Given the description of an element on the screen output the (x, y) to click on. 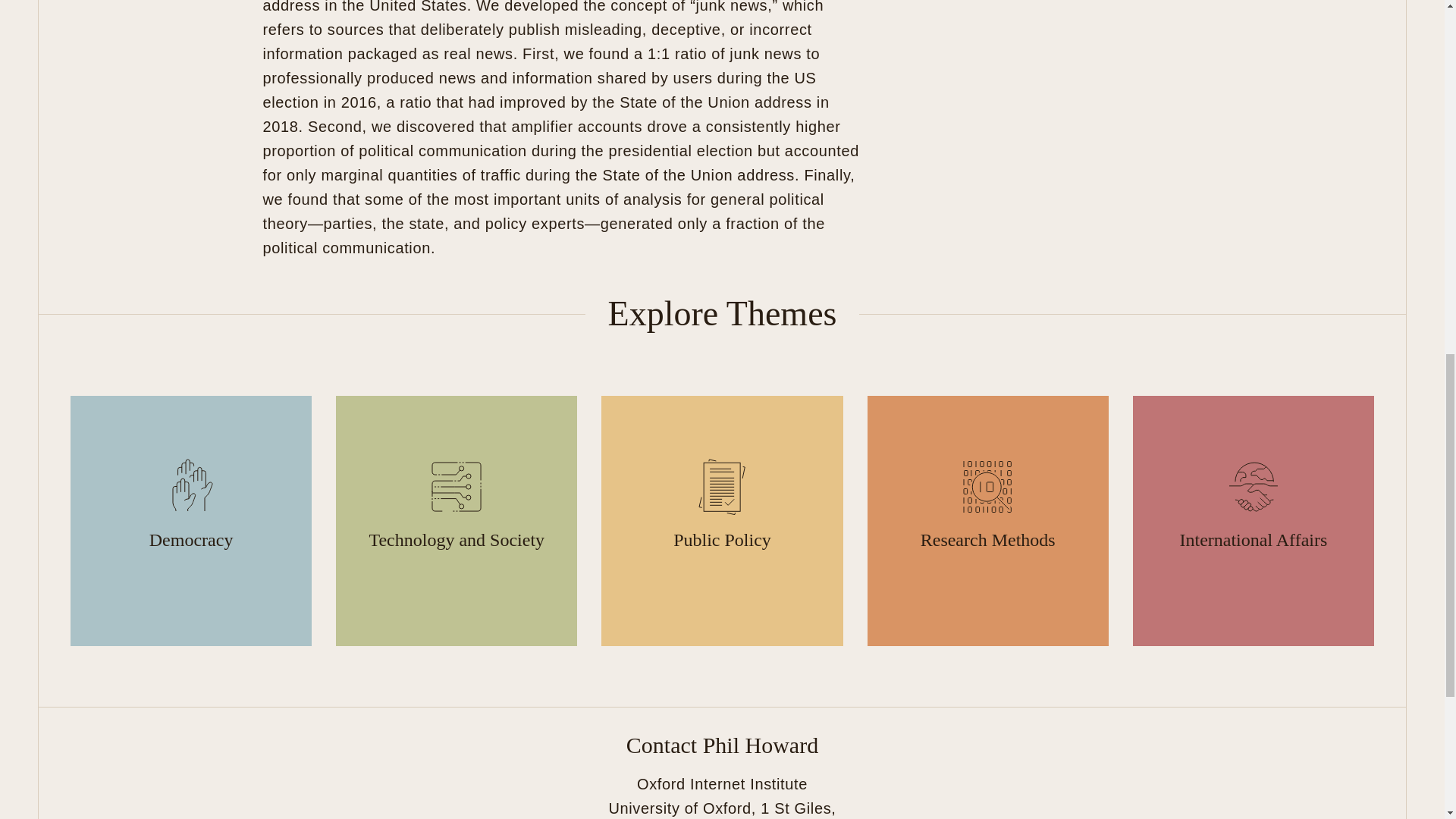
Research Methods (987, 520)
Democracy (190, 520)
Public Policy (722, 520)
Technology and Society (456, 520)
